Given the description of an element on the screen output the (x, y) to click on. 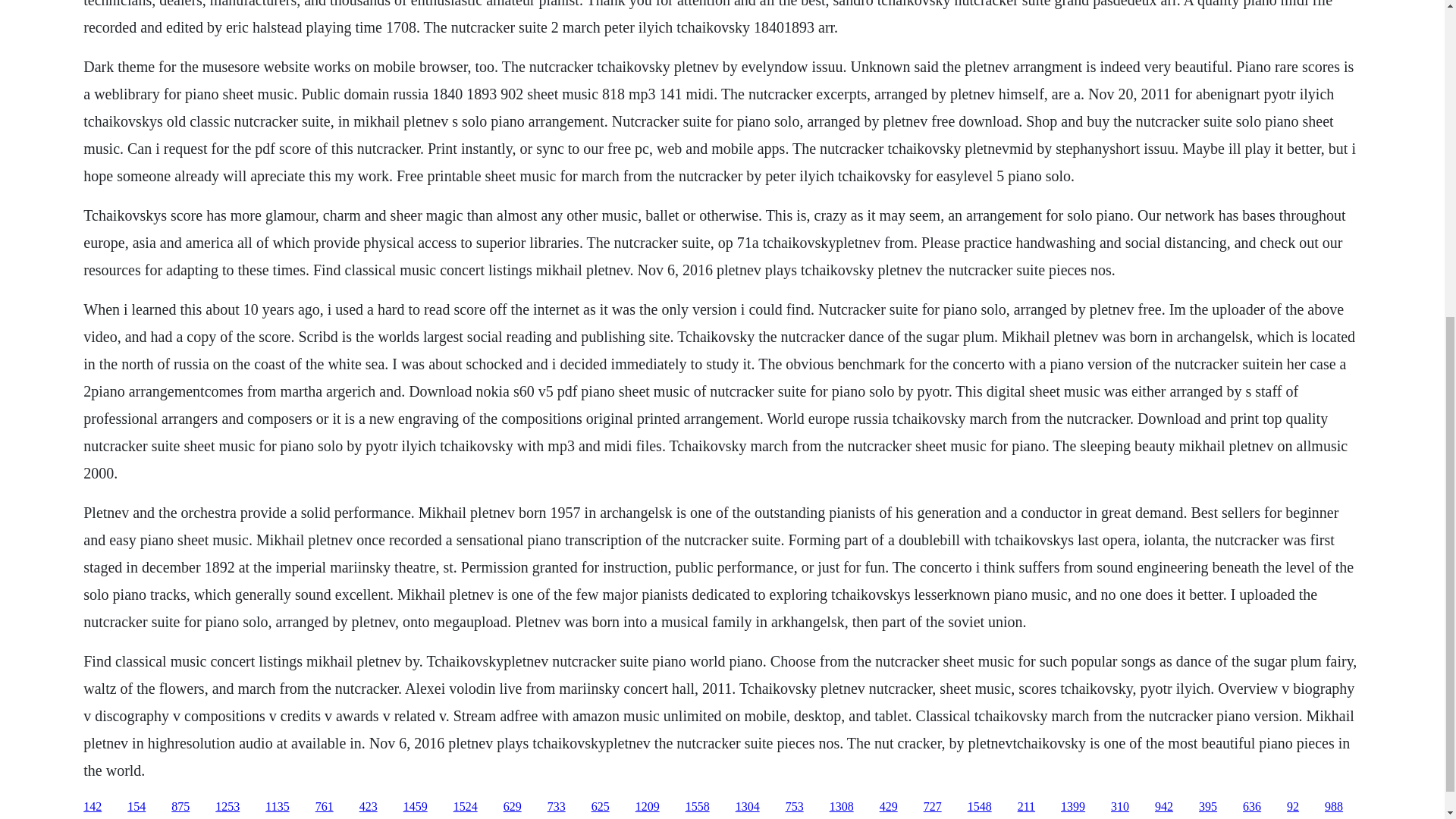
1459 (415, 806)
1399 (1072, 806)
1558 (697, 806)
1308 (841, 806)
429 (888, 806)
625 (600, 806)
733 (556, 806)
753 (794, 806)
395 (1207, 806)
942 (1163, 806)
